Given the description of an element on the screen output the (x, y) to click on. 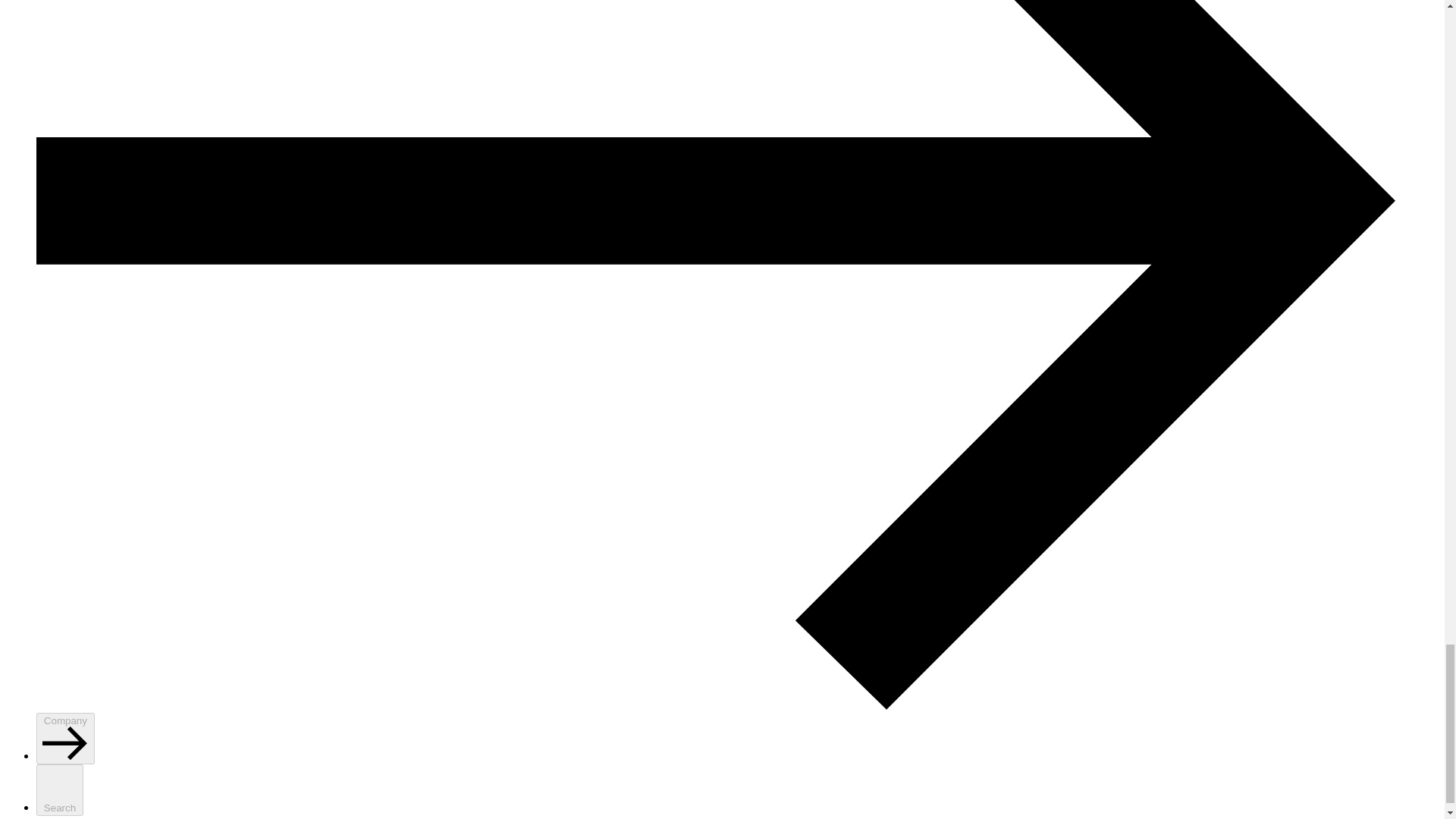
Search (59, 789)
Search (59, 789)
Company (65, 738)
